Given the description of an element on the screen output the (x, y) to click on. 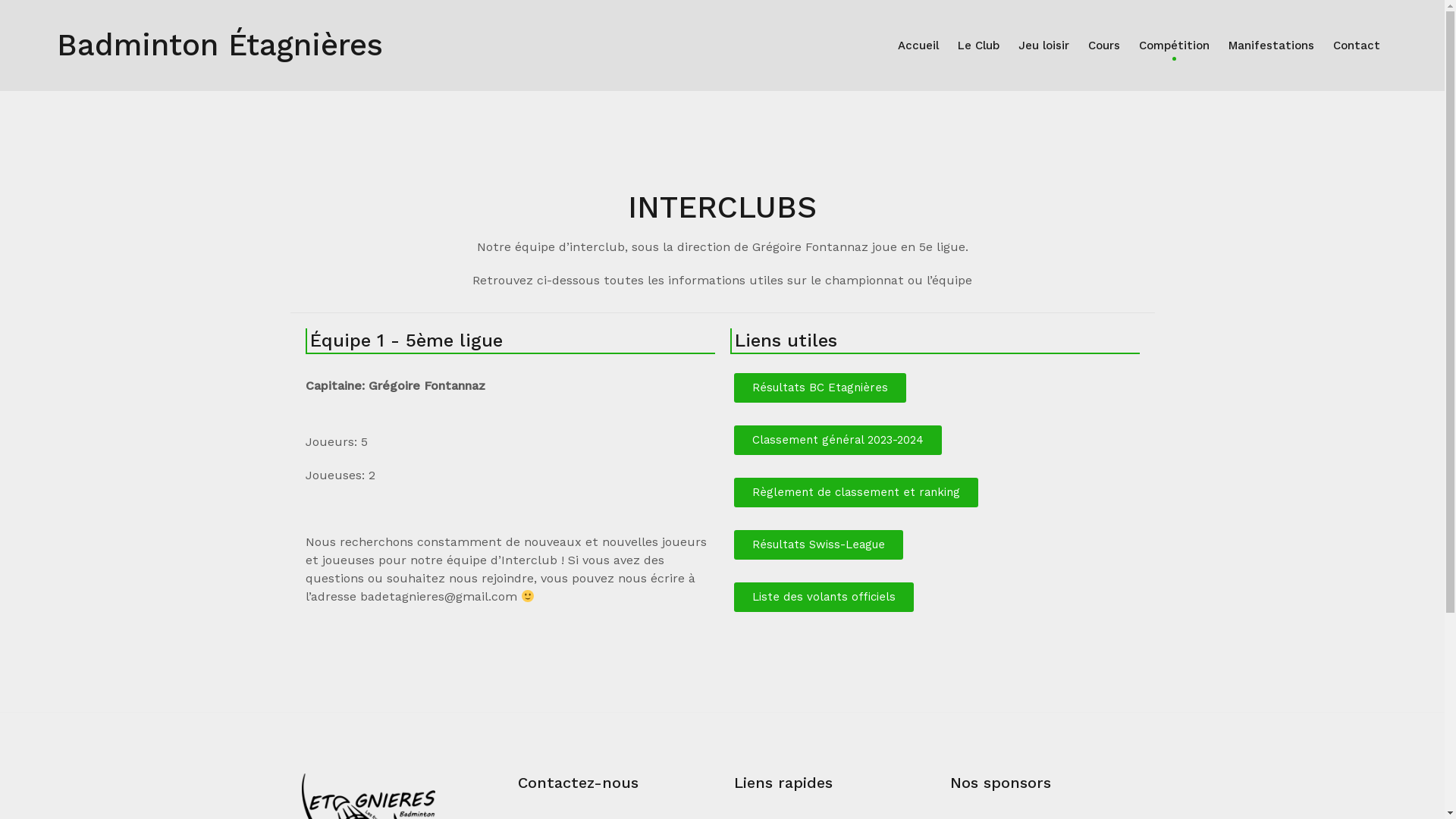
Manifestations Element type: text (1271, 45)
Accueil Element type: text (917, 45)
Contact Element type: text (1356, 45)
Jeu loisir Element type: text (1043, 45)
Cours Element type: text (1104, 45)
Liste des volants officiels Element type: text (823, 596)
Le Club Element type: text (978, 45)
